Given the description of an element on the screen output the (x, y) to click on. 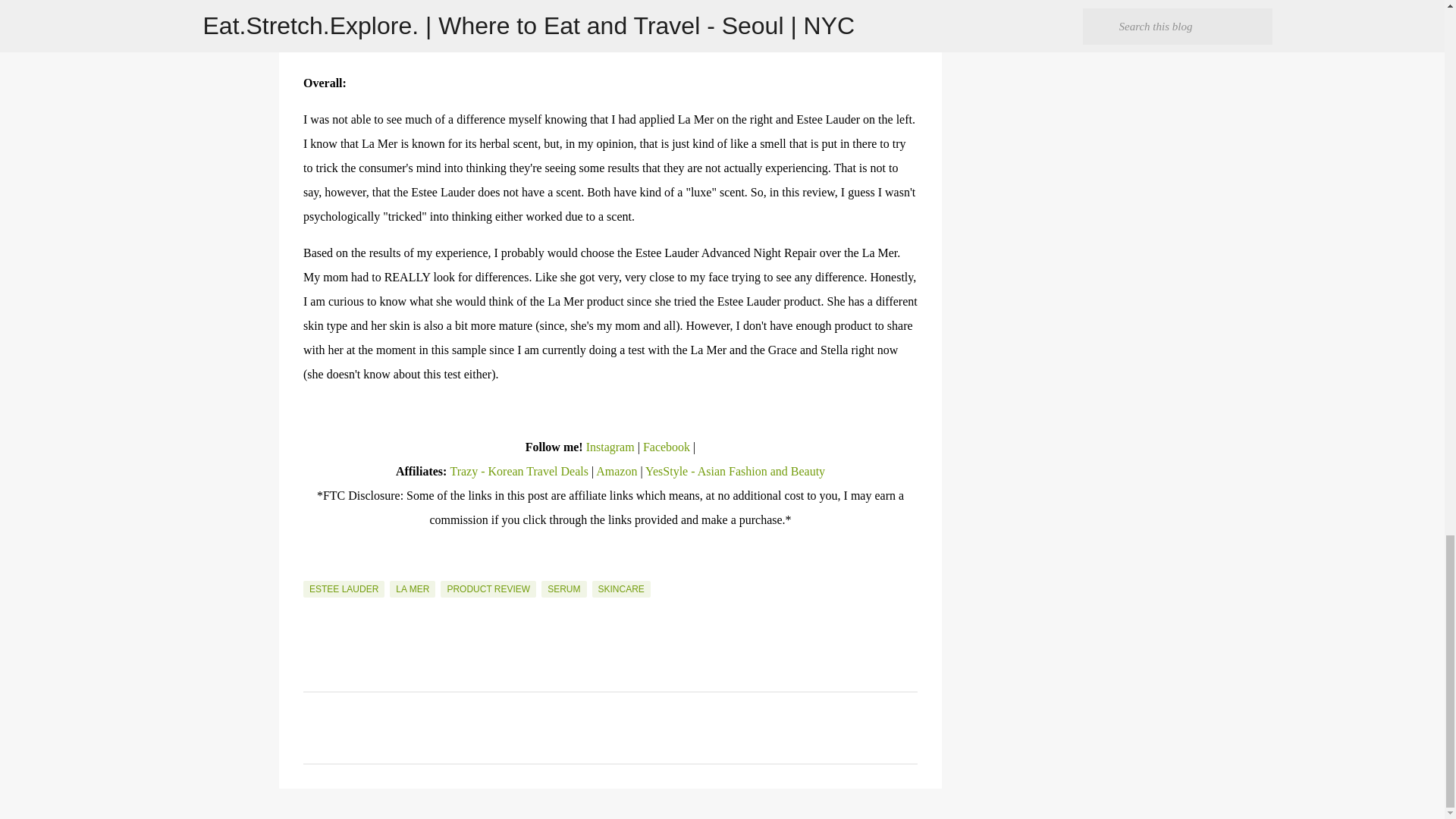
SKINCARE (621, 588)
PRODUCT REVIEW (488, 588)
Amazon (617, 471)
SERUM (563, 588)
YesStyle - Asian Fashion and Beauty (735, 471)
ESTEE LAUDER (343, 588)
Facebook (666, 446)
LA MER (412, 588)
Email Post (311, 571)
Instagram (610, 446)
